Given the description of an element on the screen output the (x, y) to click on. 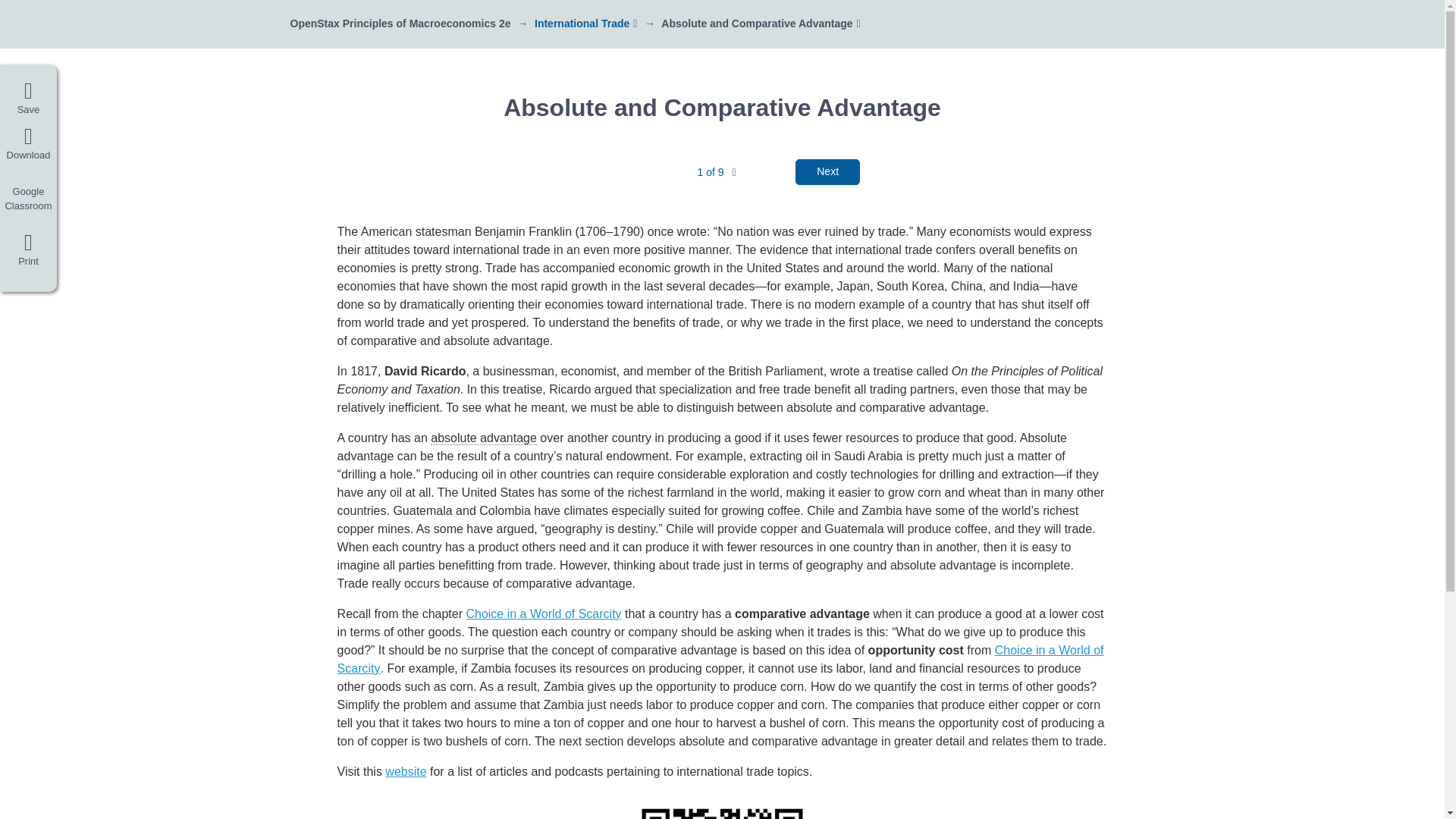
Download (28, 144)
Save (28, 98)
Next (827, 171)
Download (28, 144)
International Trade (581, 23)
